Given the description of an element on the screen output the (x, y) to click on. 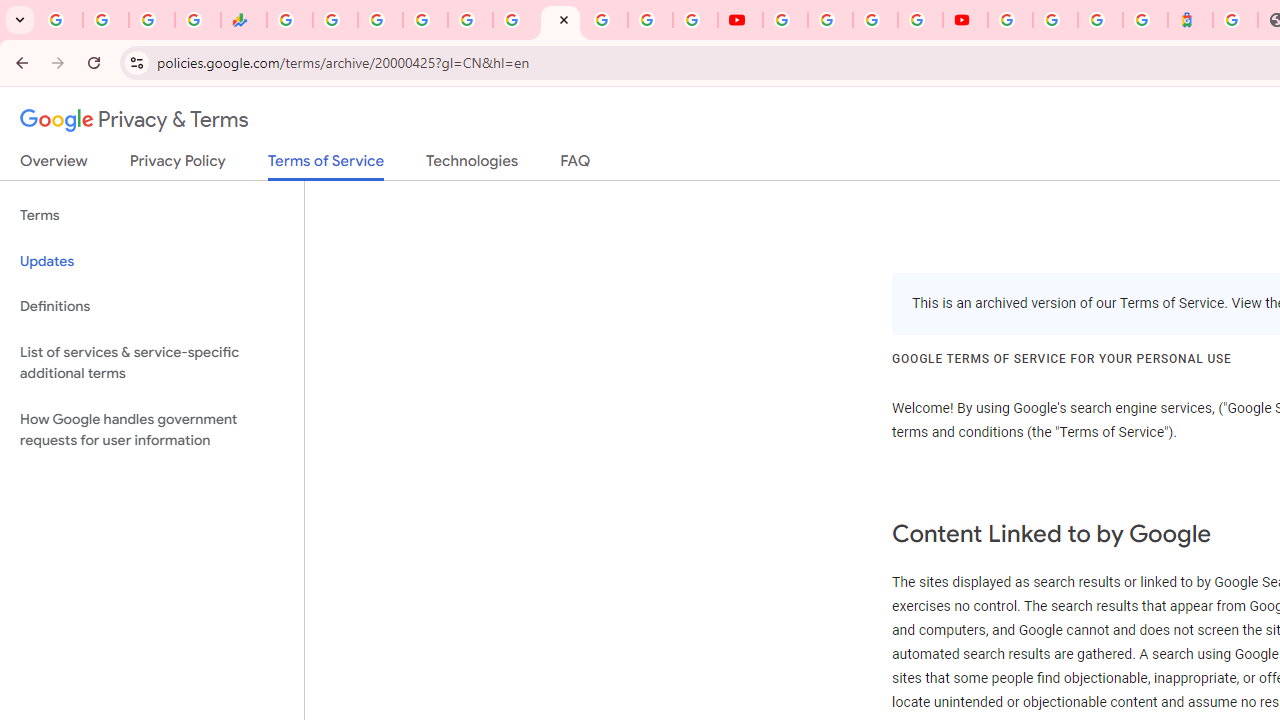
YouTube (784, 20)
Privacy Checkup (695, 20)
Content Creator Programs & Opportunities - YouTube Creators (965, 20)
